Given the description of an element on the screen output the (x, y) to click on. 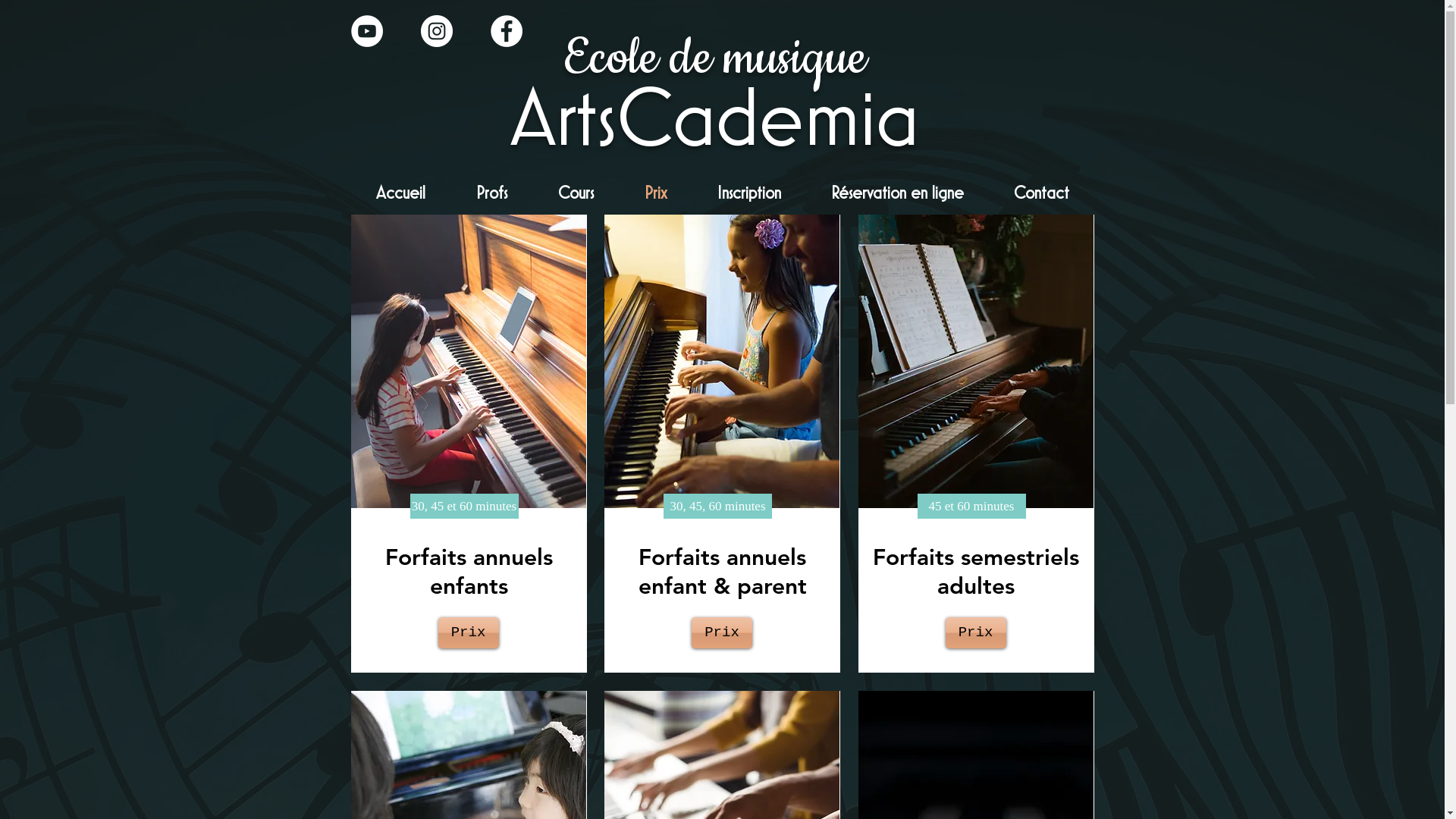
Ecole de musique
ArtsCademia Element type: text (714, 92)
Cours Element type: text (575, 193)
Inscription Element type: text (748, 193)
Contact Element type: text (1041, 193)
Prix Element type: text (721, 632)
Prix Element type: text (654, 193)
Prix Element type: text (468, 632)
30, 45, 60 minutes Element type: text (717, 505)
Profs Element type: text (491, 193)
30, 45 et 60 minutes Element type: text (463, 505)
Prix Element type: text (974, 632)
Accueil Element type: text (400, 193)
